Given the description of an element on the screen output the (x, y) to click on. 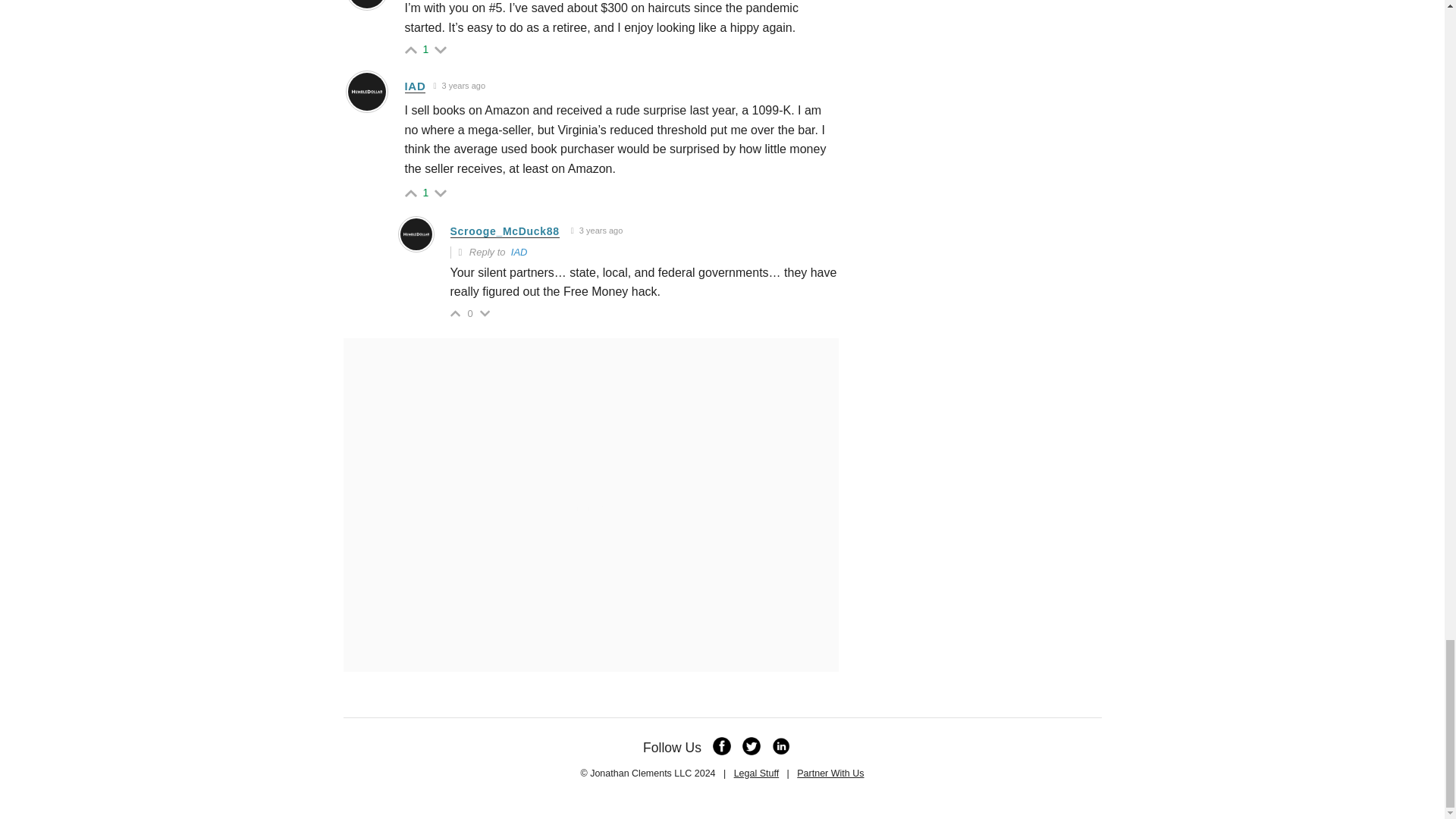
April 28, 2021 7:47 am (459, 85)
1 (425, 192)
April 28, 2021 11:56 am (597, 230)
IAD (415, 86)
1 (425, 49)
IAD (519, 251)
0 (470, 313)
